Given the description of an element on the screen output the (x, y) to click on. 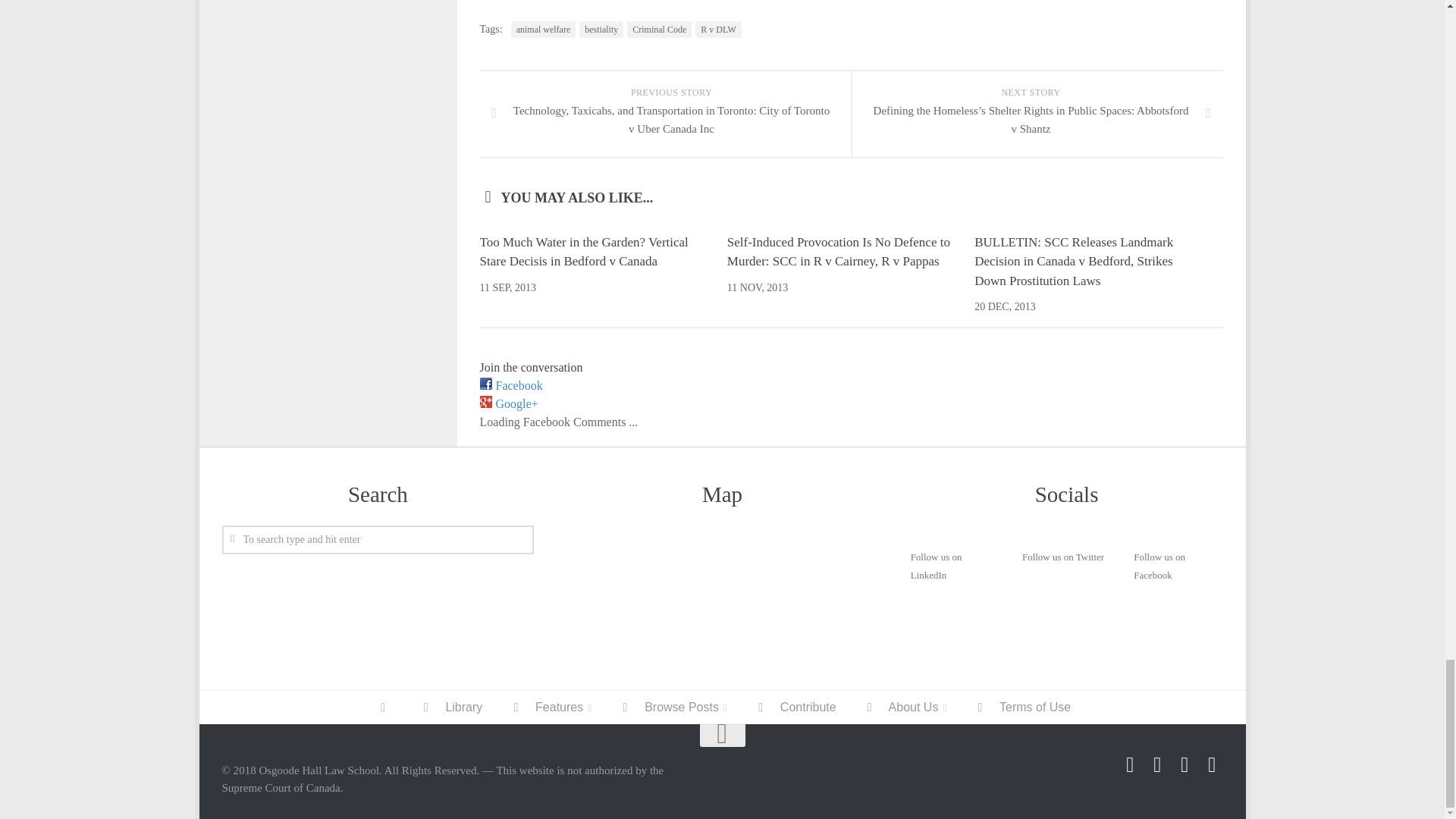
To search type and hit enter (377, 539)
animal welfare (543, 29)
bestiality (601, 29)
To search type and hit enter (377, 539)
Criminal Code (659, 29)
R v DLW (718, 29)
